Given the description of an element on the screen output the (x, y) to click on. 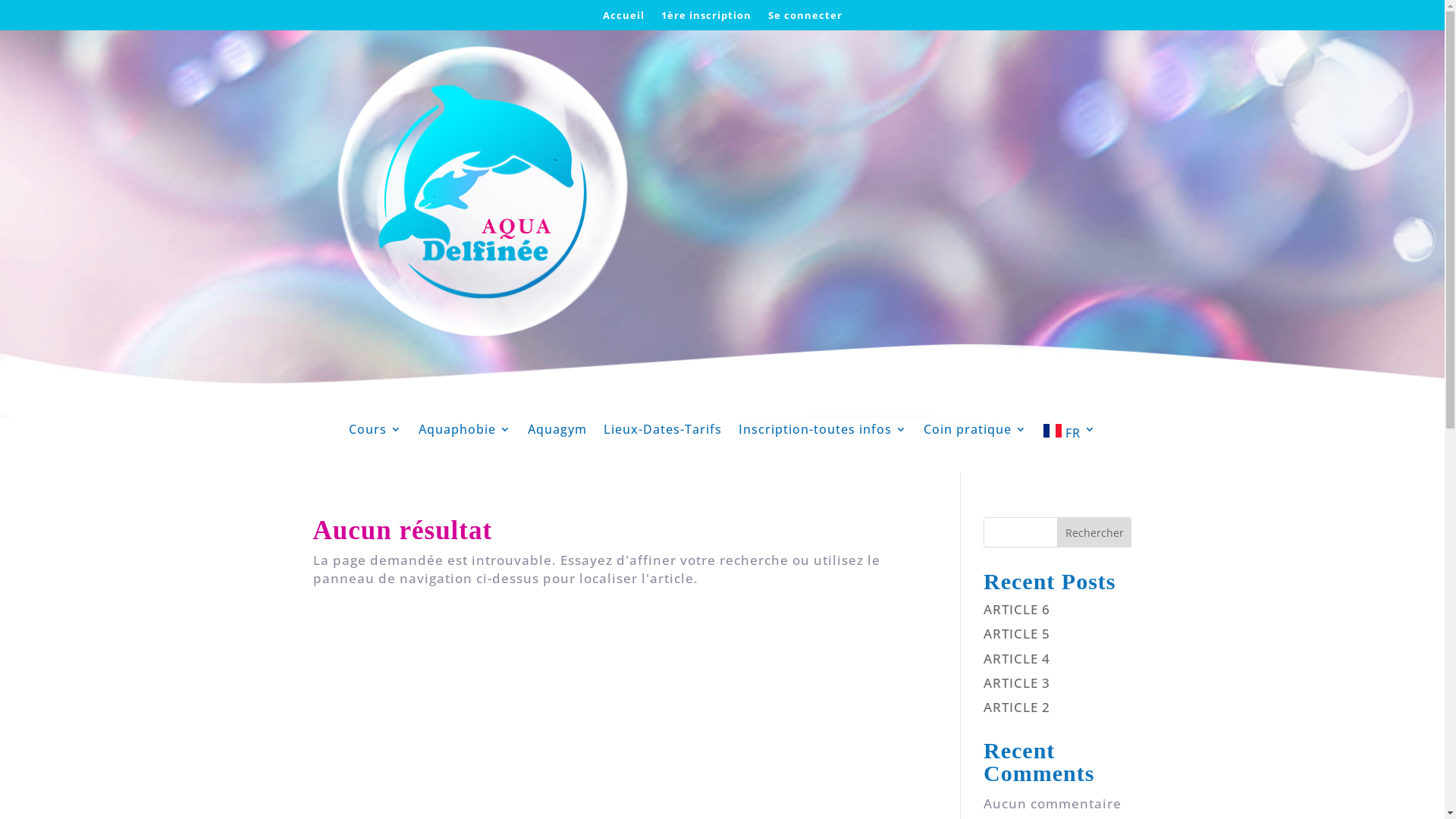
Coin pratique Element type: text (974, 433)
FR Element type: text (1069, 433)
ARTICLE 4 Element type: text (1016, 658)
header_NNew Element type: hover (722, 223)
Aquagym Element type: text (556, 433)
ARTICLE 2 Element type: text (1016, 706)
Se connecter Element type: text (804, 17)
Rechercher Element type: text (1094, 532)
Inscription-toutes infos Element type: text (822, 433)
Accueil Element type: text (622, 17)
ARTICLE 3 Element type: text (1016, 682)
Cours Element type: text (374, 433)
Lieux-Dates-Tarifs Element type: text (662, 433)
Aquaphobie Element type: text (464, 433)
ARTICLE 5 Element type: text (1016, 633)
ARTICLE 6 Element type: text (1016, 609)
